Given the description of an element on the screen output the (x, y) to click on. 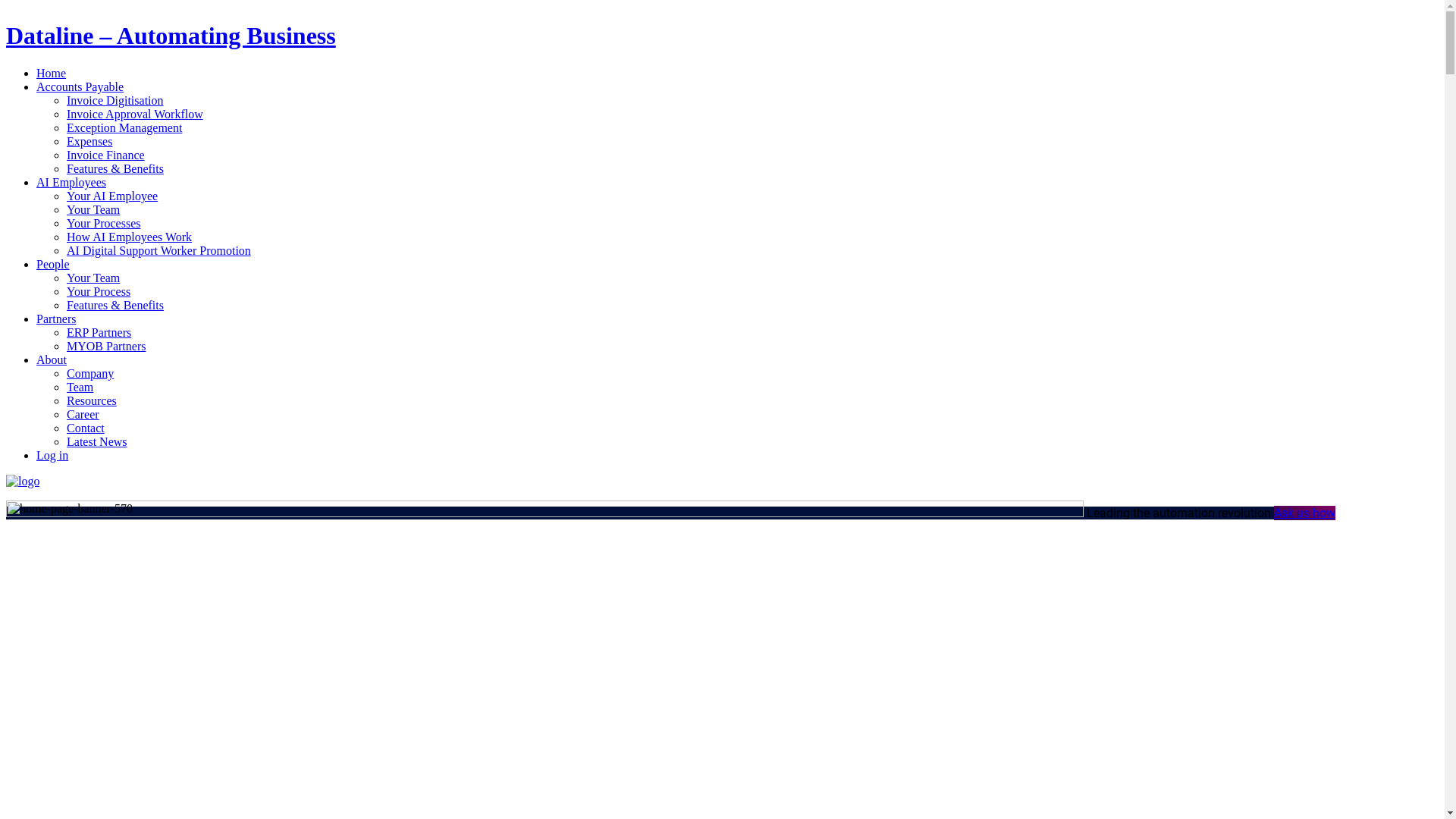
Home Element type: text (50, 72)
Invoice Digitisation Element type: text (114, 100)
Accounts Payable Element type: text (79, 86)
Your Processes Element type: text (103, 222)
Invoice Finance Element type: text (105, 154)
Career Element type: text (82, 413)
Resources Element type: text (91, 400)
Features & Benefits Element type: text (114, 168)
MYOB Partners Element type: text (105, 345)
Partners Element type: text (55, 318)
How AI Employees Work Element type: text (128, 236)
AI Digital Support Worker Promotion Element type: text (158, 250)
Ask us how Element type: text (1304, 512)
Features & Benefits Element type: text (114, 304)
Your Process Element type: text (98, 291)
Latest News Element type: text (96, 441)
Team Element type: text (79, 386)
Exception Management Element type: text (124, 127)
Log in Element type: text (52, 454)
People Element type: text (52, 263)
ERP Partners Element type: text (98, 332)
Your Team Element type: text (92, 277)
About Element type: text (51, 359)
Invoice Approval Workflow Element type: text (134, 113)
Company Element type: text (89, 373)
Contact Element type: text (85, 427)
AI Employees Element type: text (71, 181)
Your Team Element type: text (92, 209)
Your AI Employee Element type: text (111, 195)
Expenses Element type: text (89, 140)
